Given the description of an element on the screen output the (x, y) to click on. 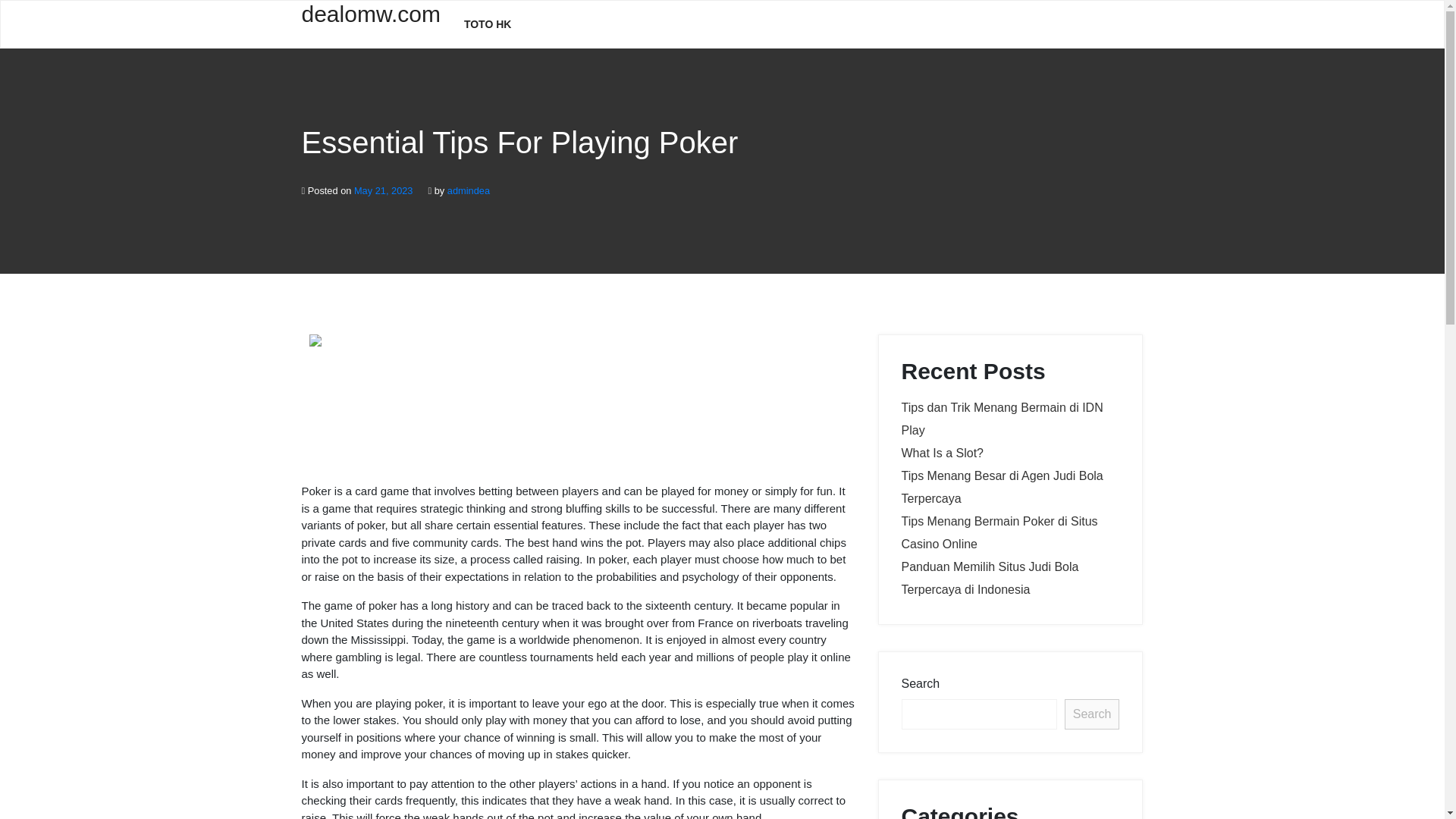
Tips dan Trik Menang Bermain di IDN Play (1001, 418)
dealomw.com (371, 22)
Tips Menang Besar di Agen Judi Bola Terpercaya (1001, 487)
What Is a Slot? (942, 452)
Tips Menang Bermain Poker di Situs Casino Online (999, 532)
Panduan Memilih Situs Judi Bola Terpercaya di Indonesia (989, 578)
Search (1091, 714)
admindea (467, 190)
Toto Hk (487, 23)
May 21, 2023 (383, 190)
